Given the description of an element on the screen output the (x, y) to click on. 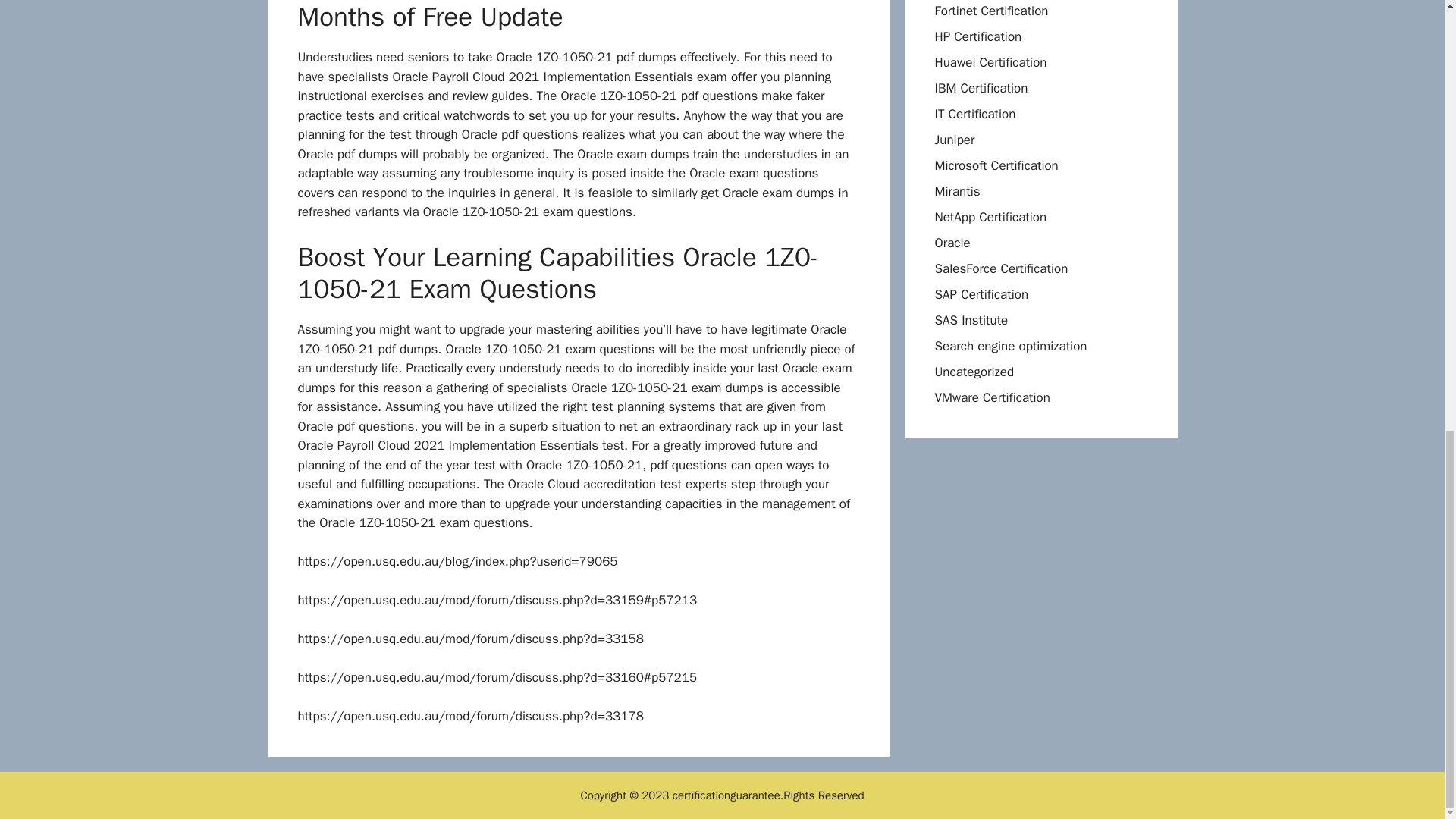
Huawei Certification (990, 62)
Fortinet Certification (991, 10)
IBM Certification (980, 88)
HP Certification (978, 36)
IT Certification (974, 114)
Juniper (954, 139)
Microsoft Certification (996, 165)
